Given the description of an element on the screen output the (x, y) to click on. 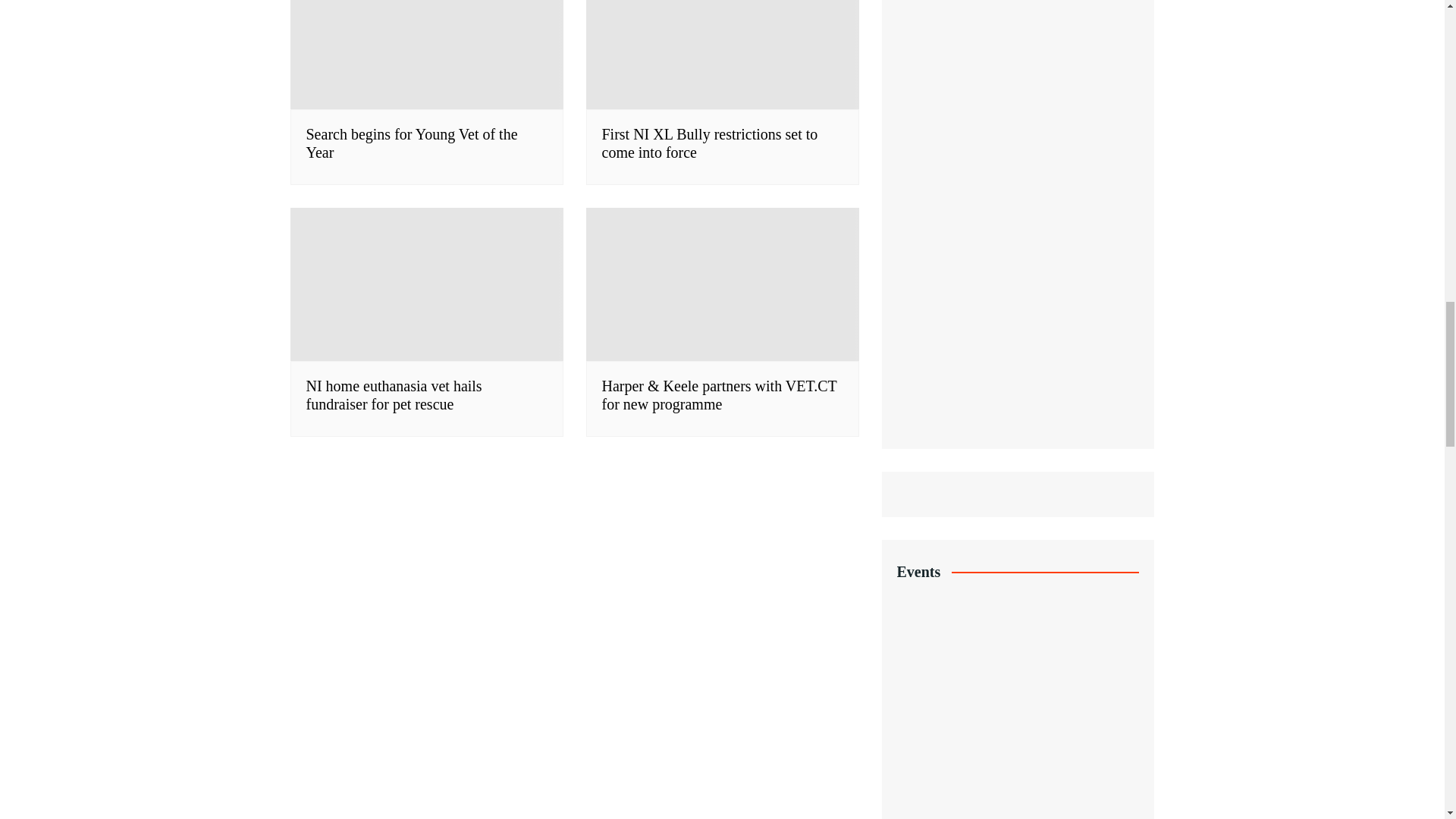
Events (1017, 679)
